Given the description of an element on the screen output the (x, y) to click on. 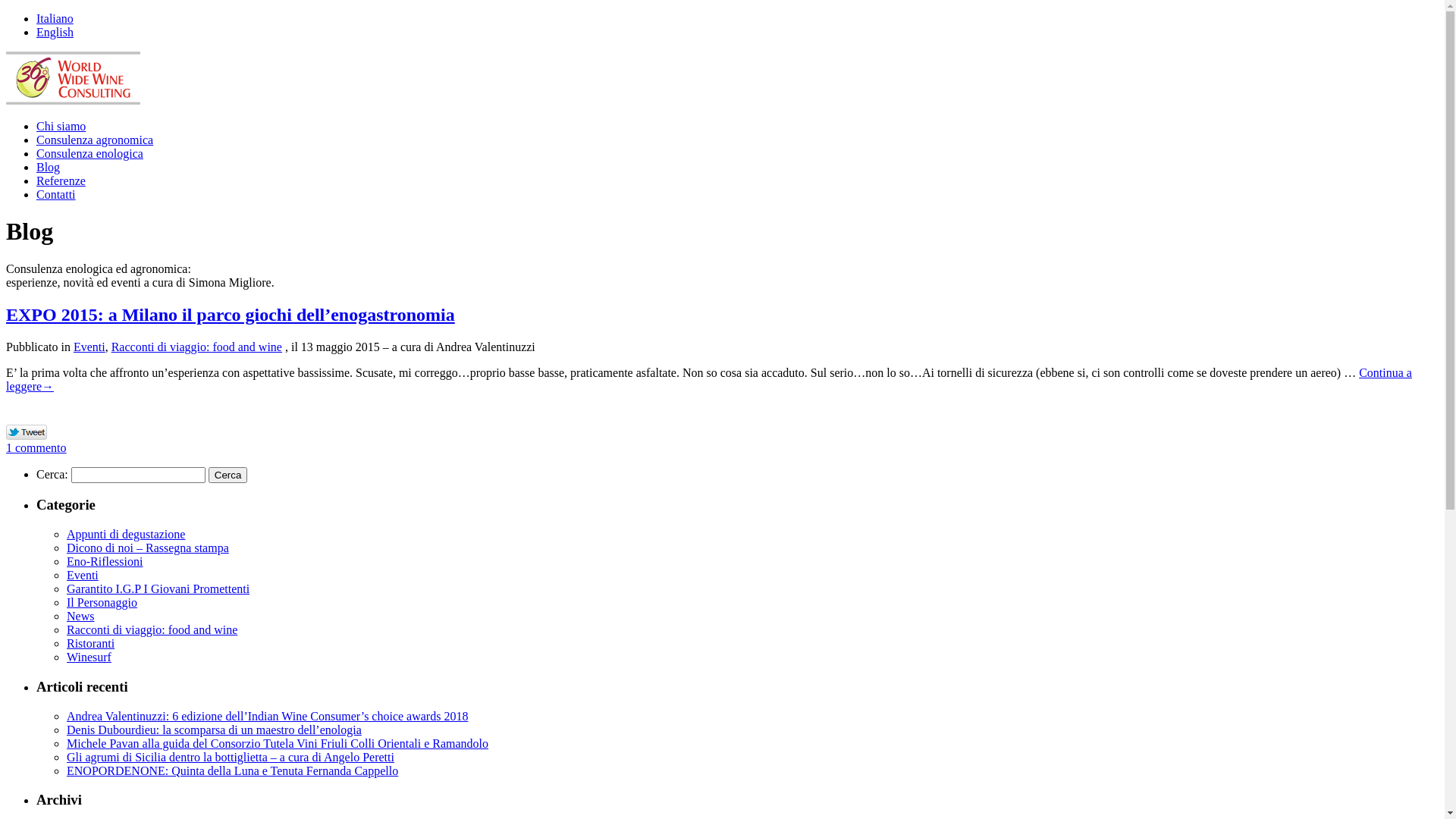
Winesurf Element type: text (88, 656)
Referenze Element type: text (60, 180)
Chi siamo Element type: text (60, 125)
Racconti di viaggio: food and wine Element type: text (196, 346)
Blog Element type: text (47, 166)
Consulenza enologica Element type: text (89, 153)
1 commento Element type: text (36, 447)
Consulenza agronomica Element type: text (94, 139)
Italiano Element type: text (54, 18)
Tweet Element type: text (26, 432)
Ristoranti Element type: text (90, 643)
Racconti di viaggio: food and wine Element type: text (151, 629)
News Element type: text (80, 615)
Eventi Element type: text (89, 346)
ENOPORDENONE: Quinta della Luna e Tenuta Fernanda Cappello Element type: text (232, 770)
Eno-Riflessioni Element type: text (104, 561)
Contatti Element type: text (55, 194)
Il Personaggio Element type: text (101, 602)
Cerca Element type: text (227, 475)
Appunti di degustazione Element type: text (125, 533)
English Element type: text (54, 31)
Eventi Element type: text (82, 574)
Garantito I.G.P I Giovani Promettenti Element type: text (157, 588)
